Given the description of an element on the screen output the (x, y) to click on. 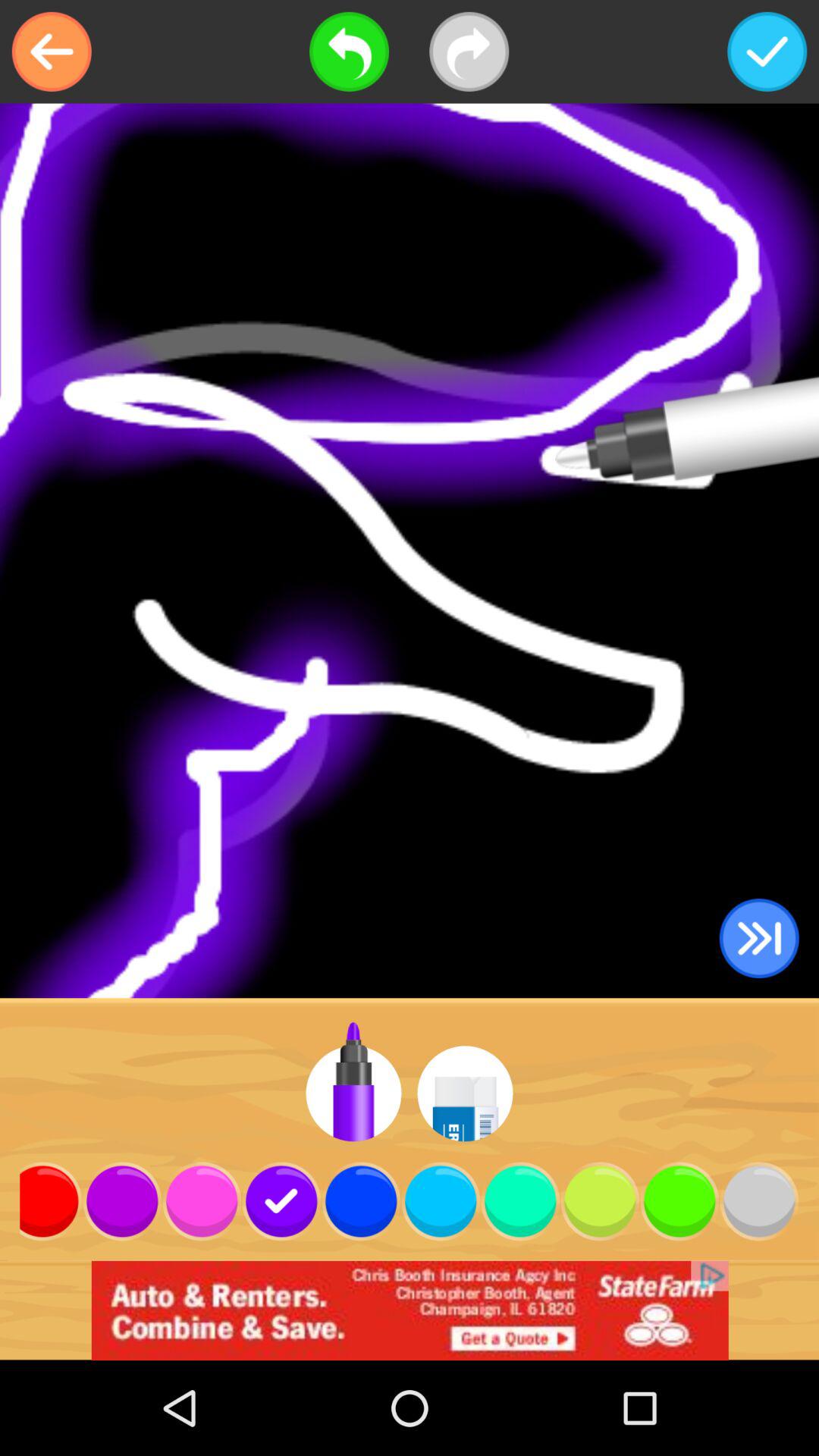
select the item at the top right corner (767, 51)
